Given the description of an element on the screen output the (x, y) to click on. 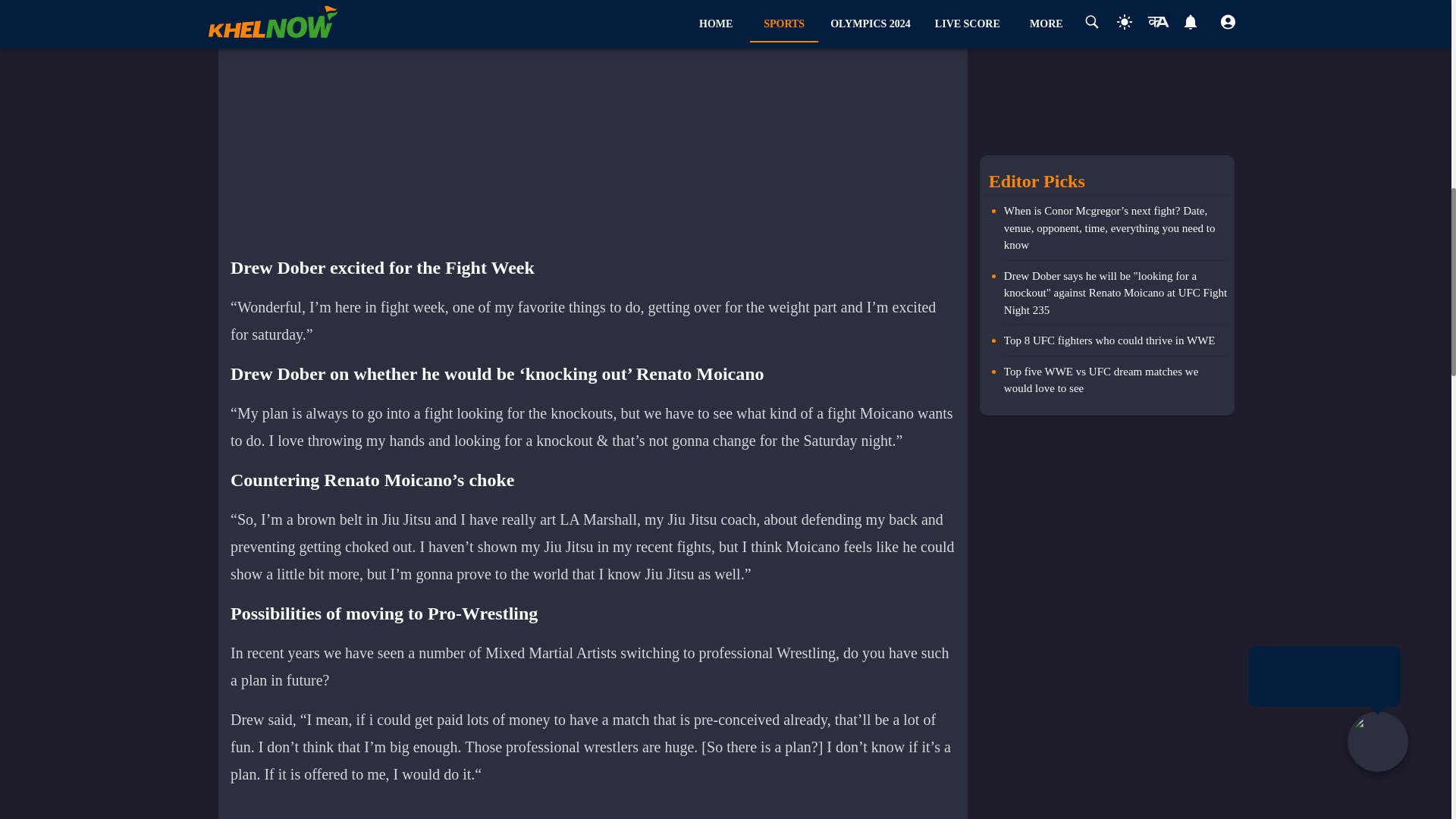
Top five WWE vs UFC dream matches we would love to see (1116, 379)
myFrame (600, 133)
myFrame (600, 809)
Top 8 UFC fighters who could thrive in WWE (1116, 344)
